Given the description of an element on the screen output the (x, y) to click on. 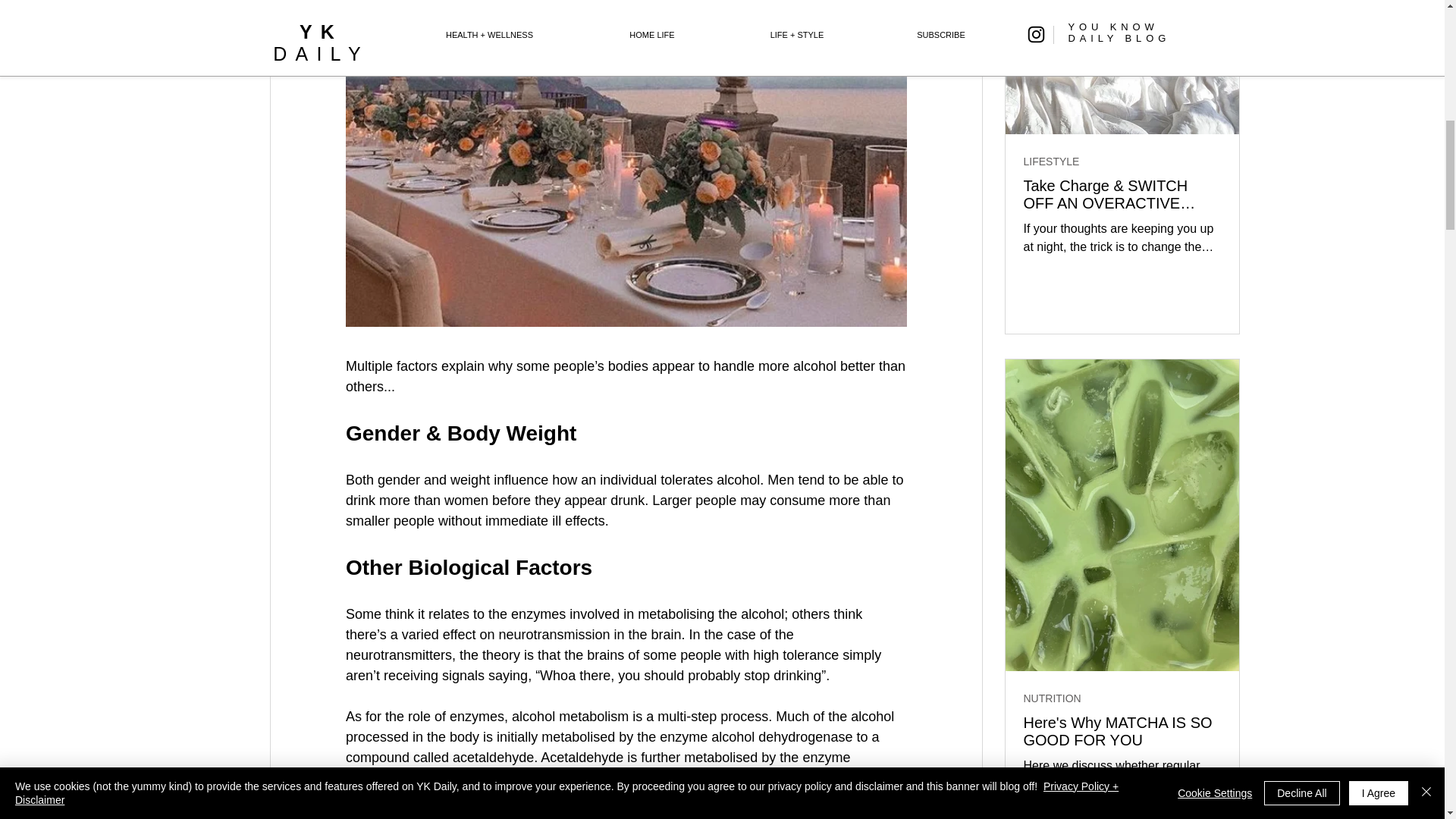
Here's Why MATCHA IS SO GOOD FOR YOU (1122, 731)
LIFESTYLE (1051, 161)
NUTRITION (1052, 698)
